Given the description of an element on the screen output the (x, y) to click on. 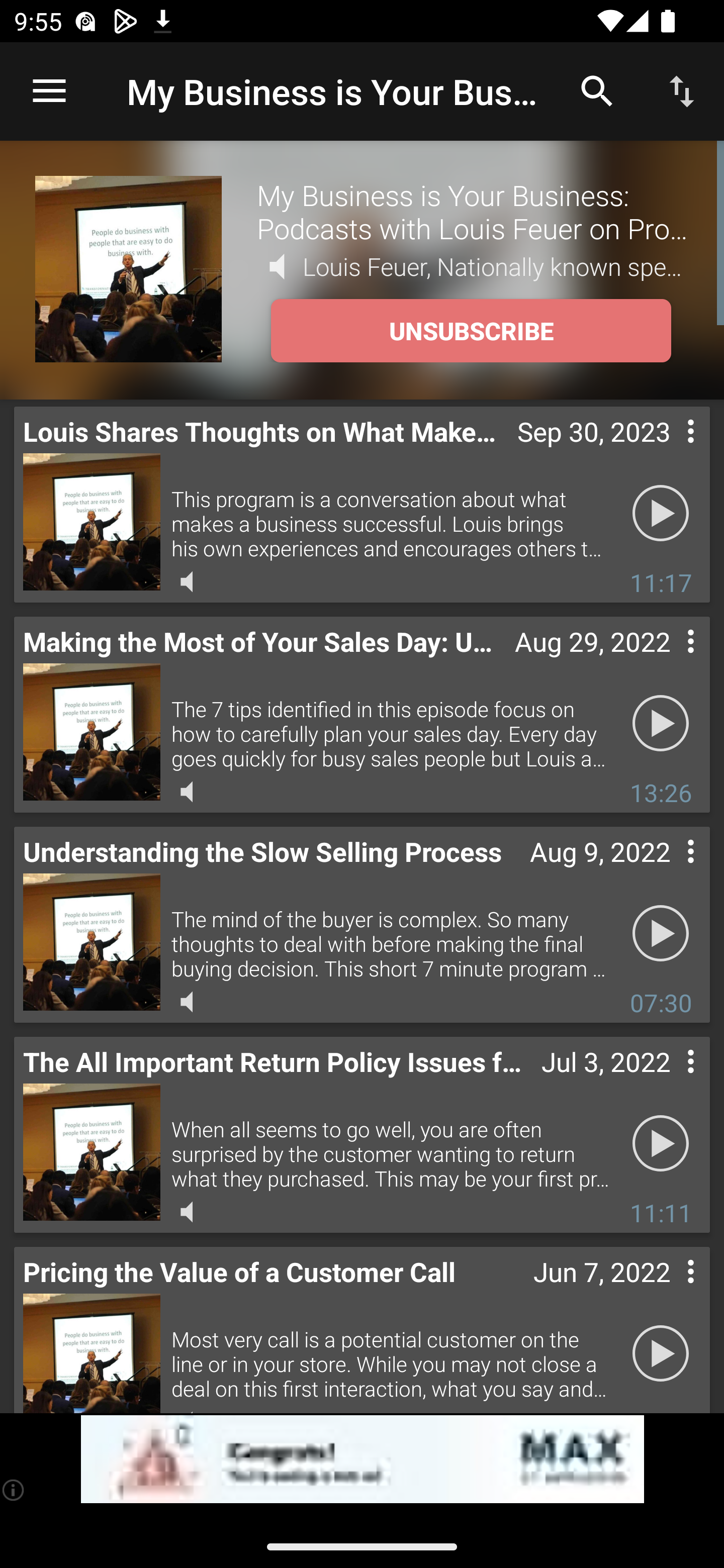
Open navigation sidebar (49, 91)
Search (597, 90)
Sort (681, 90)
UNSUBSCRIBE (470, 330)
Contextual menu (668, 451)
Play (660, 513)
Contextual menu (668, 661)
Play (660, 723)
Contextual menu (668, 870)
Play (660, 933)
Contextual menu (668, 1080)
Play (660, 1143)
Contextual menu (668, 1290)
Play (660, 1353)
app-monetization (362, 1459)
(i) (14, 1489)
